Given the description of an element on the screen output the (x, y) to click on. 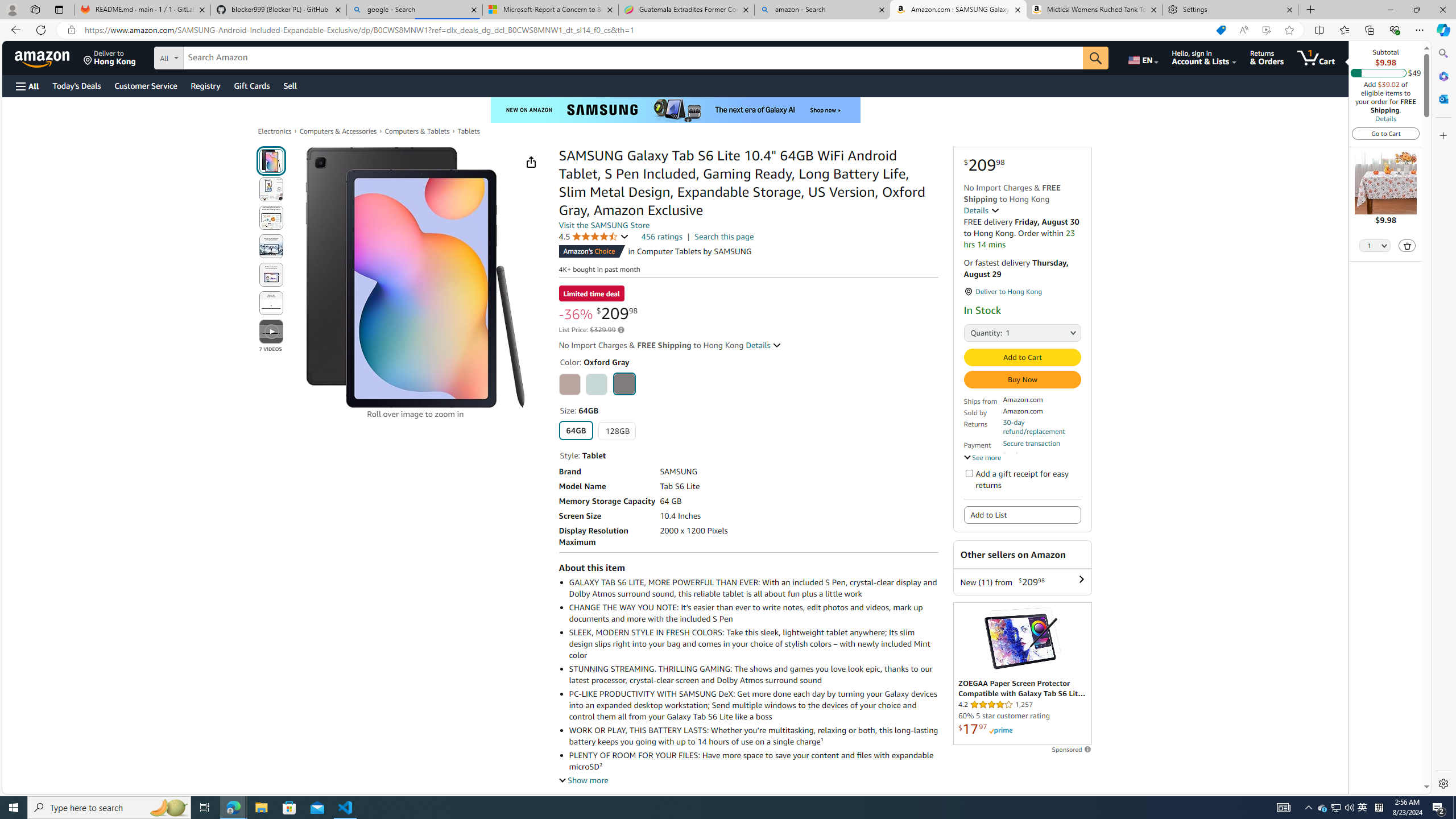
Electronics (274, 130)
Mint (596, 384)
456 ratings (661, 236)
Details (1385, 118)
Oxford Gray (623, 383)
Delete (1407, 245)
64GB (575, 429)
1 item in cart (1315, 57)
Chiffon Pink (569, 384)
Details  (763, 344)
